Given the description of an element on the screen output the (x, y) to click on. 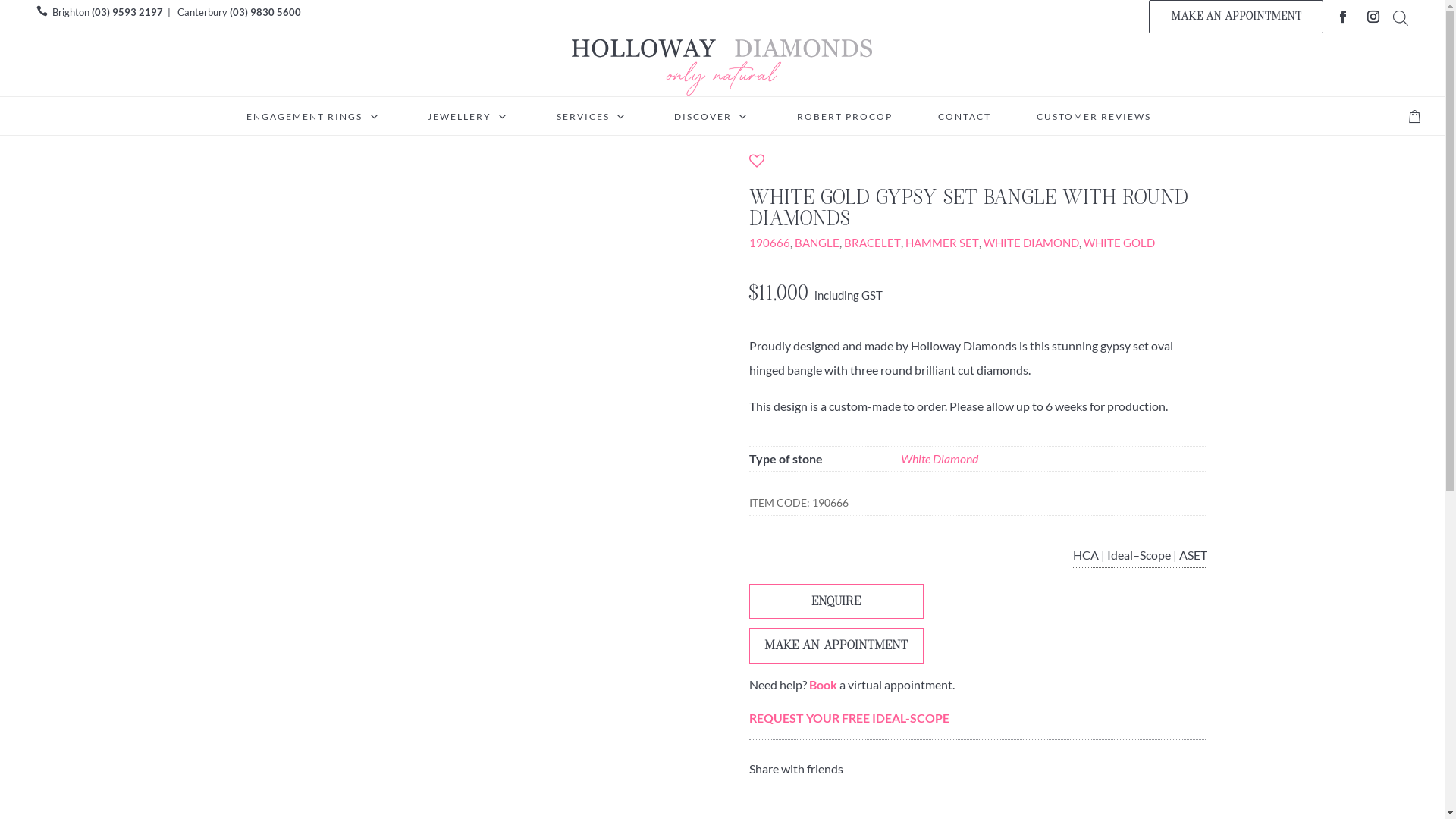
HAMMER SET Element type: text (942, 242)
WHITE DIAMOND Element type: text (1031, 242)
White Diamond Element type: text (939, 458)
Make an Appointment Element type: text (1235, 16)
190666 Element type: text (769, 242)
JEWELLERY Element type: text (469, 116)
REQUEST YOUR FREE IDEAL-SCOPE Element type: text (849, 717)
Follow on Instagram Element type: hover (1373, 16)
Book Element type: text (823, 684)
DISCOVER Element type: text (712, 116)
CONTACT Element type: text (964, 116)
SERVICES Element type: text (592, 116)
ROBERT PROCOP Element type: text (844, 116)
ENGAGEMENT RINGS Element type: text (314, 116)
Enquire Element type: text (836, 600)
BANGLE Element type: text (816, 242)
HDLogo Element type: hover (721, 66)
Make an appointment Element type: text (836, 644)
BRACELET Element type: text (872, 242)
CUSTOMER REVIEWS Element type: text (1093, 116)
Follow on Facebook Element type: hover (1342, 16)
WHITE GOLD Element type: text (1118, 242)
